Given the description of an element on the screen output the (x, y) to click on. 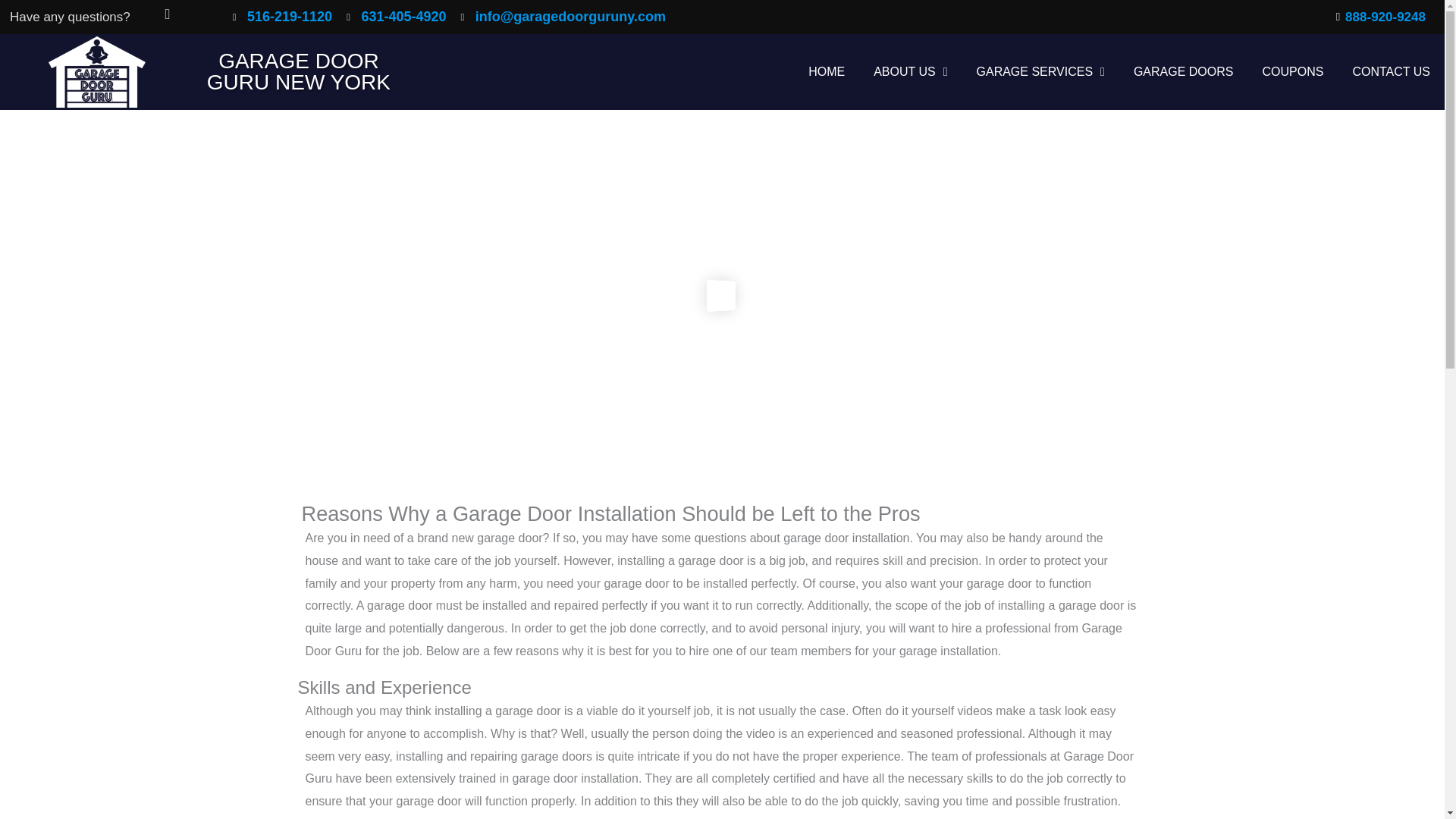
631-405-4920 (395, 16)
888-920-9248 (1374, 16)
516-219-1120 (281, 16)
GARAGE DOOR GURU NEW YORK (298, 71)
ABOUT US (909, 71)
GARAGE DOORS (1183, 71)
GARAGE SERVICES (1040, 71)
